Given the description of an element on the screen output the (x, y) to click on. 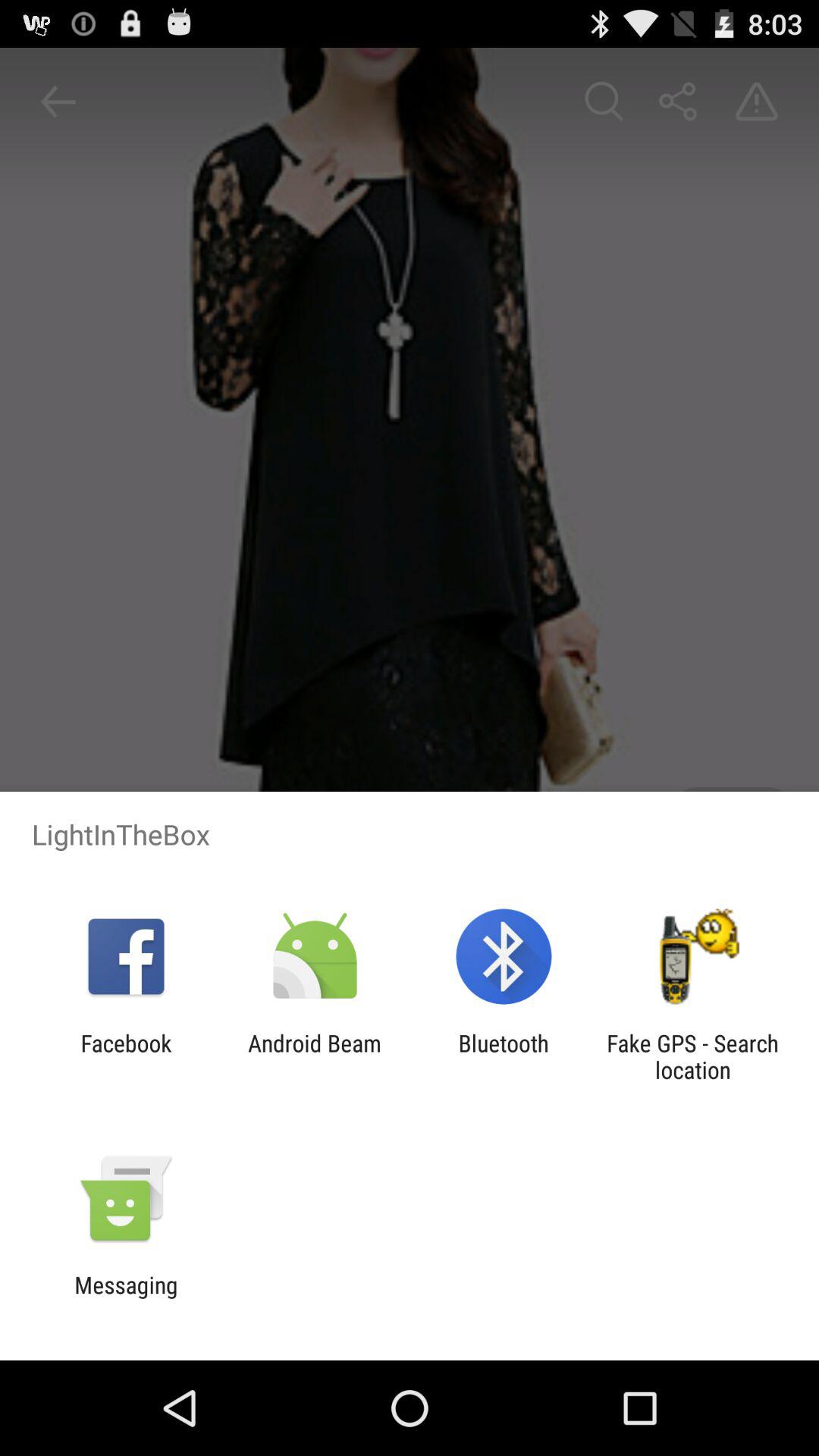
swipe to the fake gps search (692, 1056)
